Given the description of an element on the screen output the (x, y) to click on. 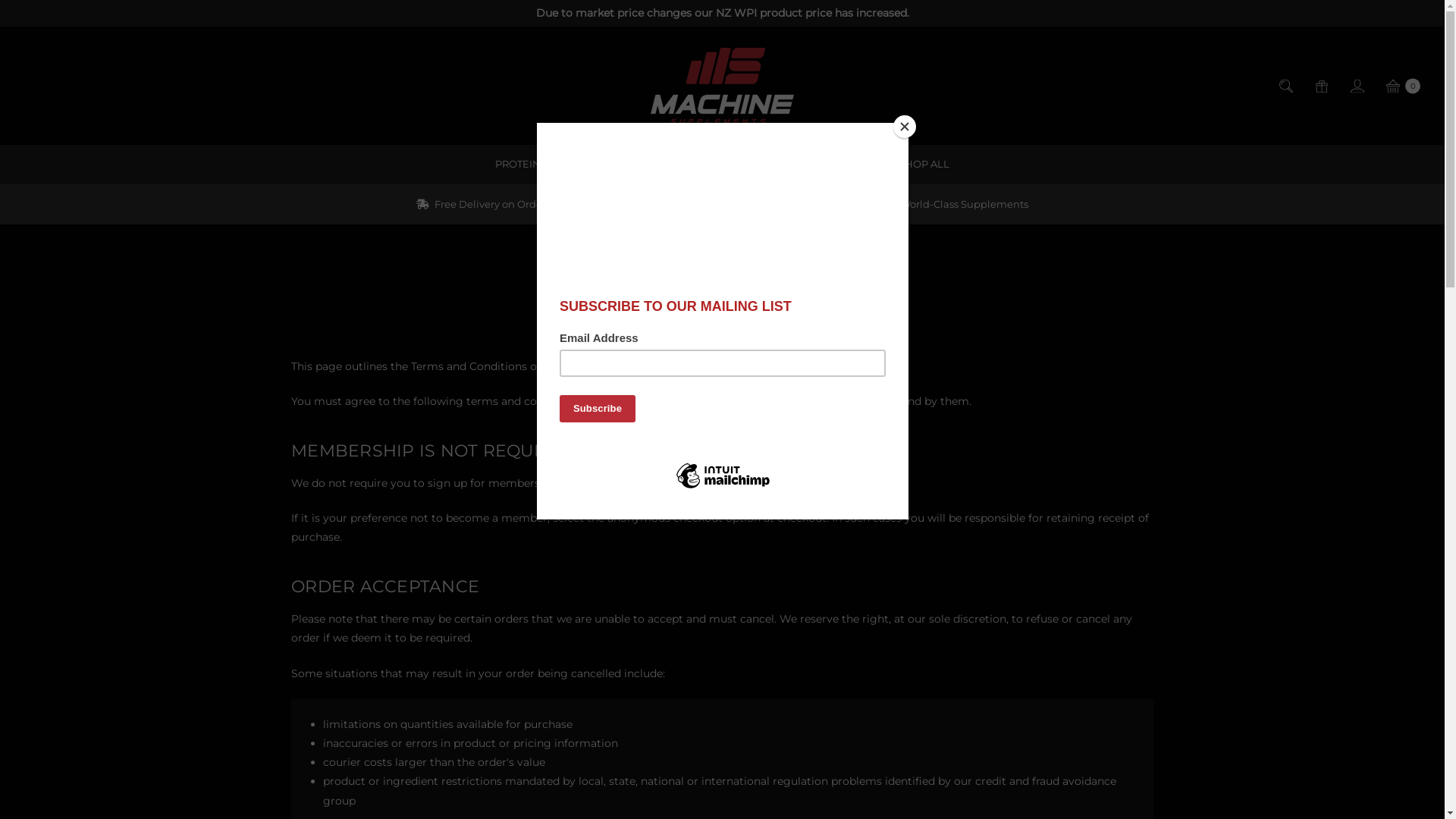
PROTEIN Element type: text (517, 163)
Machine Supplements Element type: hover (721, 85)
ACCESSORIES Element type: text (831, 163)
AMINO ACIDS Element type: text (606, 163)
CARBOHYDRATES Element type: text (718, 163)
60 Day Hassle-Free Returns Element type: text (696, 203)
Terms & Conditions Element type: text (744, 246)
Home Element type: text (669, 246)
0 Element type: text (1401, 85)
Free Delivery on Orders over $150 Element type: text (507, 203)
SHOP ALL Element type: text (923, 163)
Premium Quality World-Class Supplements Element type: text (910, 203)
